Given the description of an element on the screen output the (x, y) to click on. 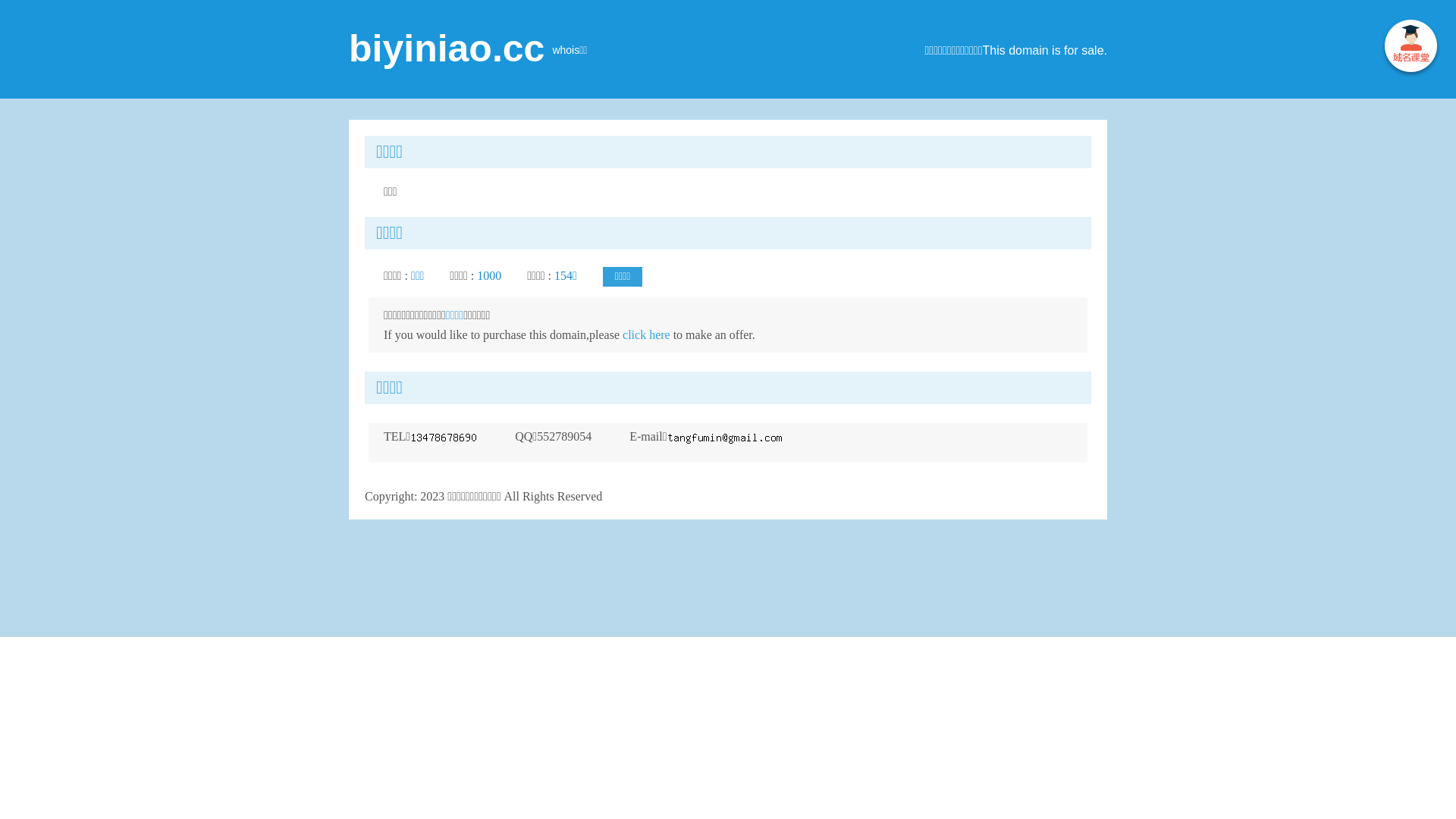
click here Element type: text (646, 334)
